Given the description of an element on the screen output the (x, y) to click on. 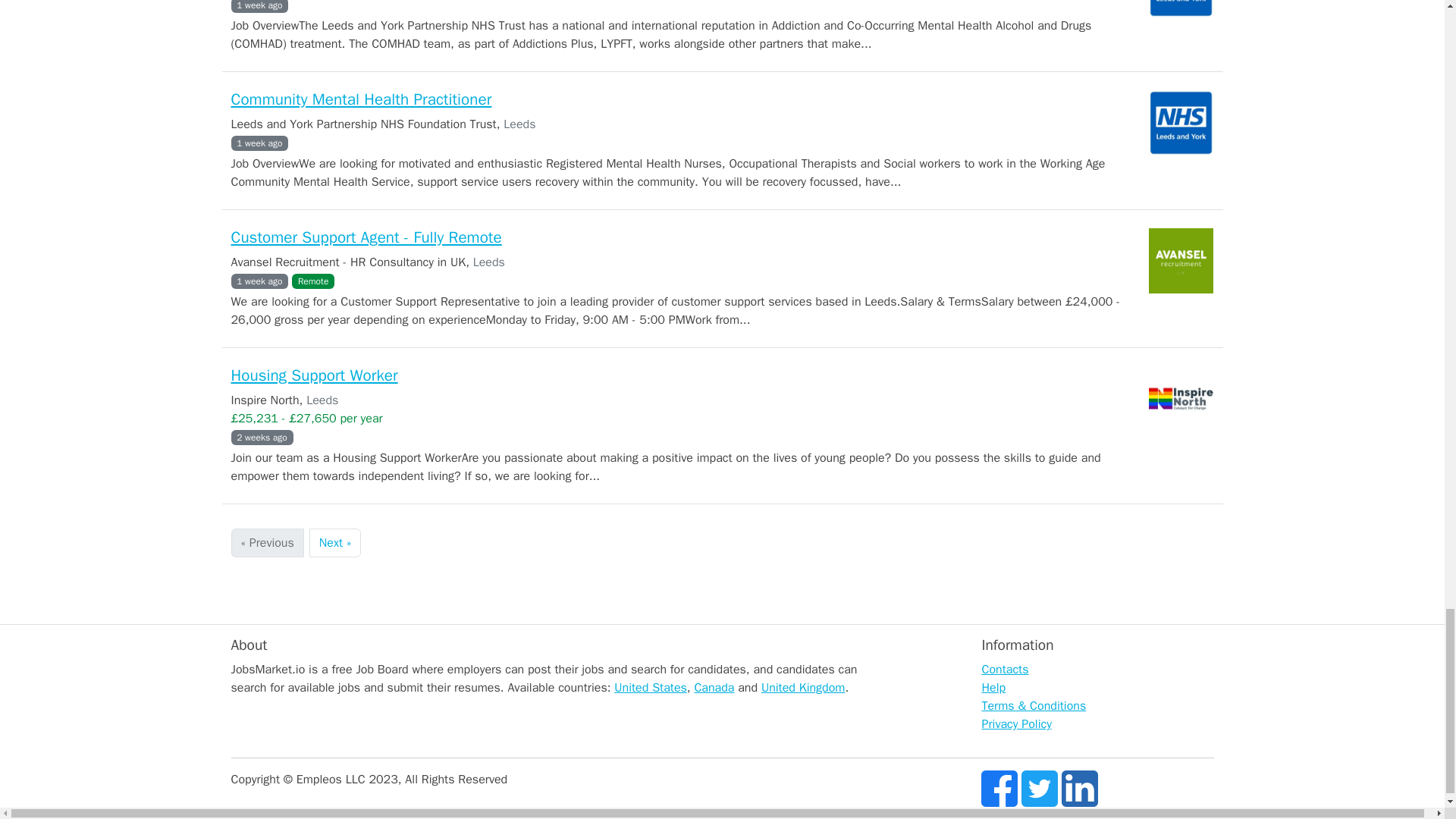
twitter (1040, 787)
United States (650, 687)
JobsMarket US (650, 687)
linkedin (1079, 787)
facebook (999, 787)
Customer Support Agent - Fully Remote (365, 237)
Contacts (1004, 669)
JobsMarket Canada (713, 687)
United Kingdom (803, 687)
Canada (713, 687)
Community Mental Health Practitioner (361, 98)
JobsMarket UK (803, 687)
Privacy Policy (1016, 724)
Help (993, 687)
Housing Support Worker (313, 374)
